Given the description of an element on the screen output the (x, y) to click on. 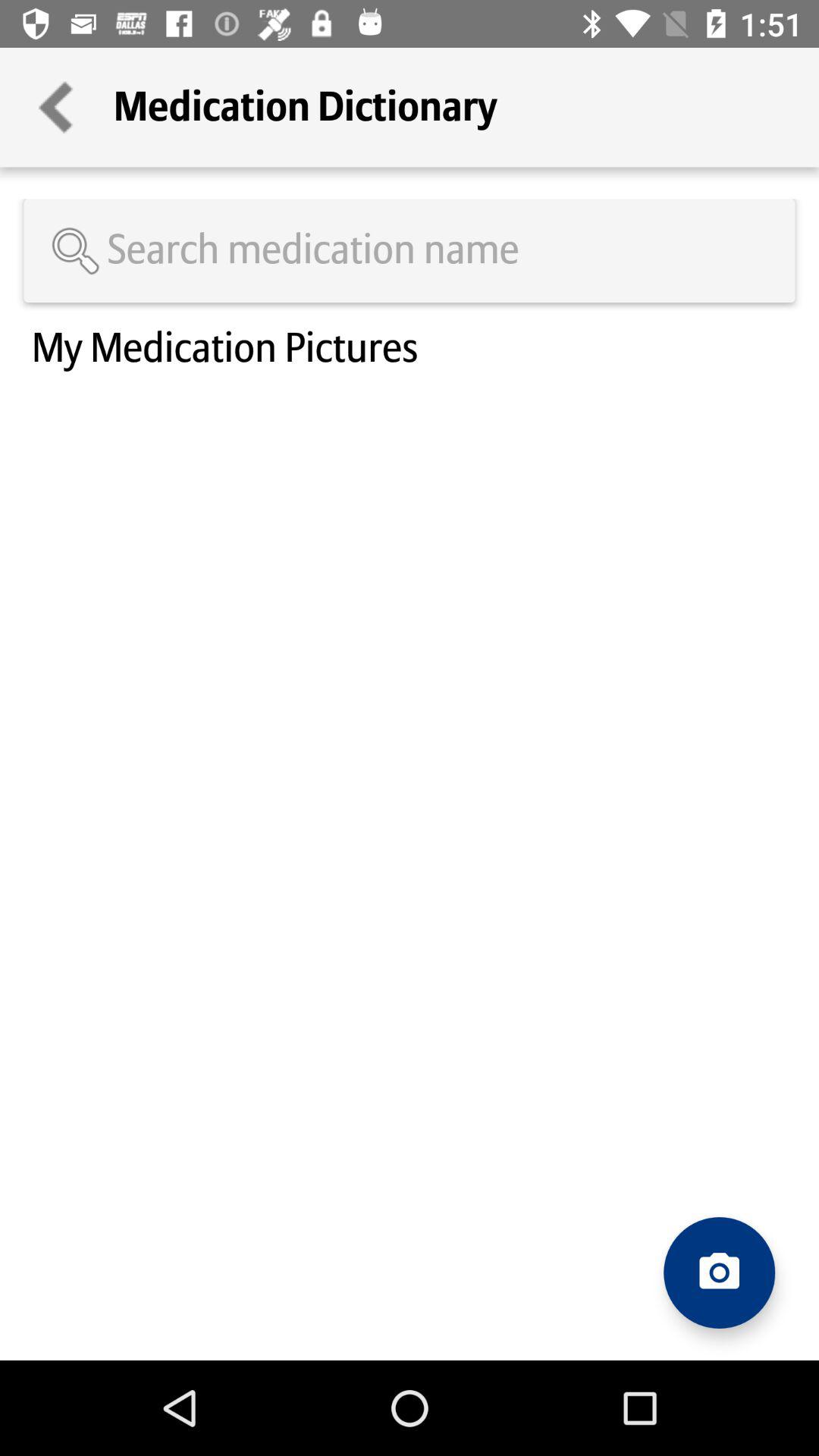
open camera (719, 1272)
